Given the description of an element on the screen output the (x, y) to click on. 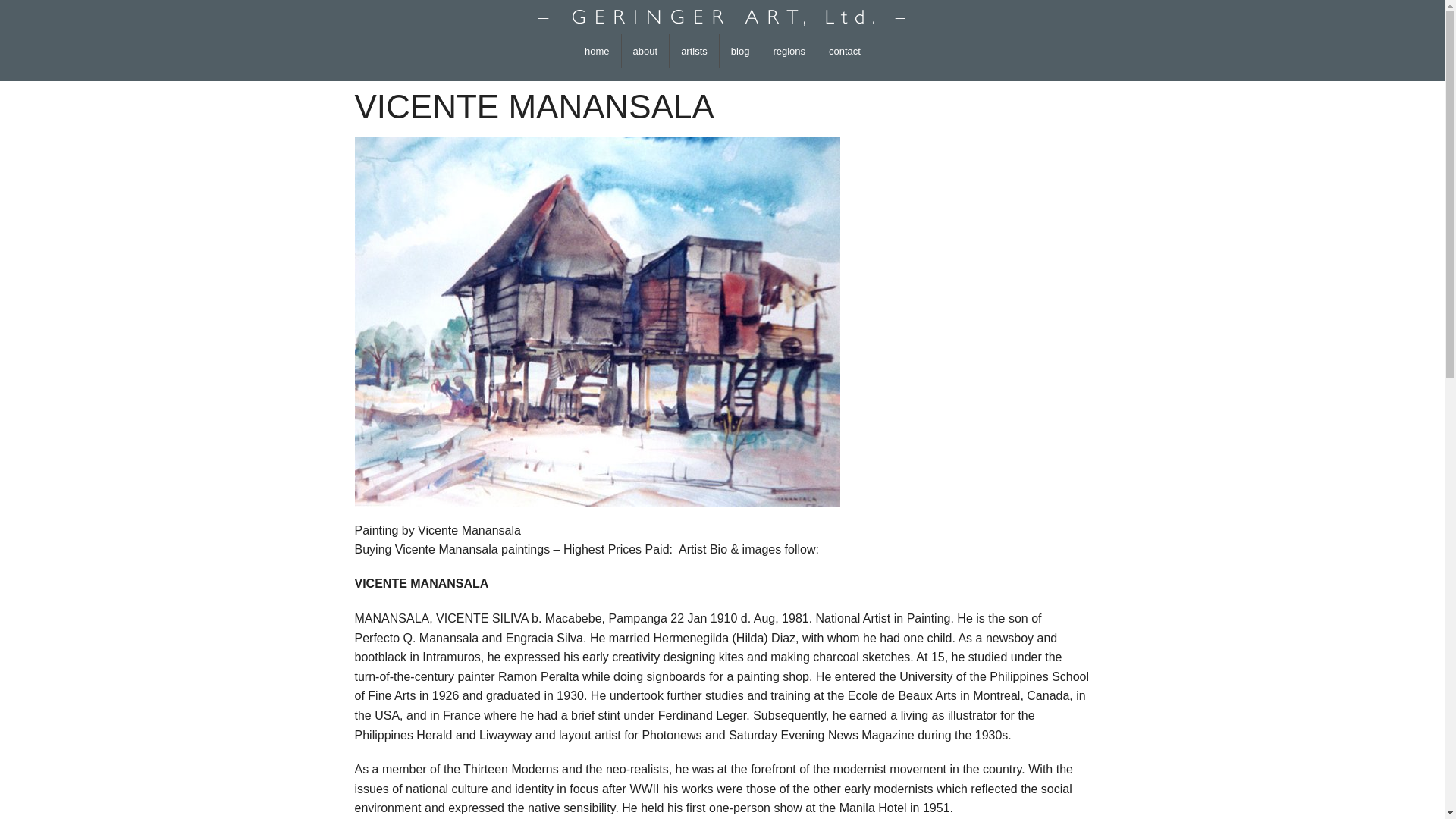
blog (740, 50)
home (597, 50)
artists (694, 50)
about (645, 50)
regions (788, 50)
contact (844, 50)
